Given the description of an element on the screen output the (x, y) to click on. 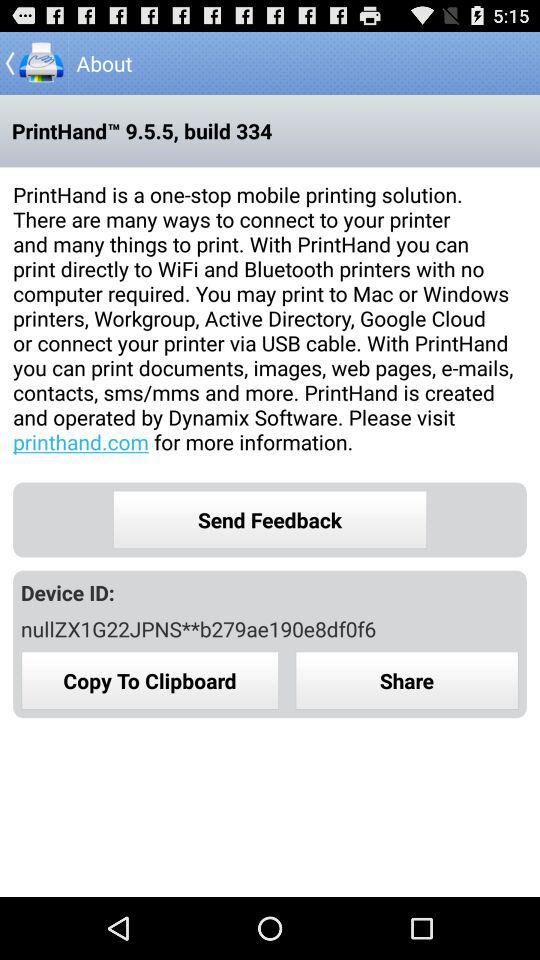
tap the icon to the right of the copy to clipboard item (407, 680)
